Given the description of an element on the screen output the (x, y) to click on. 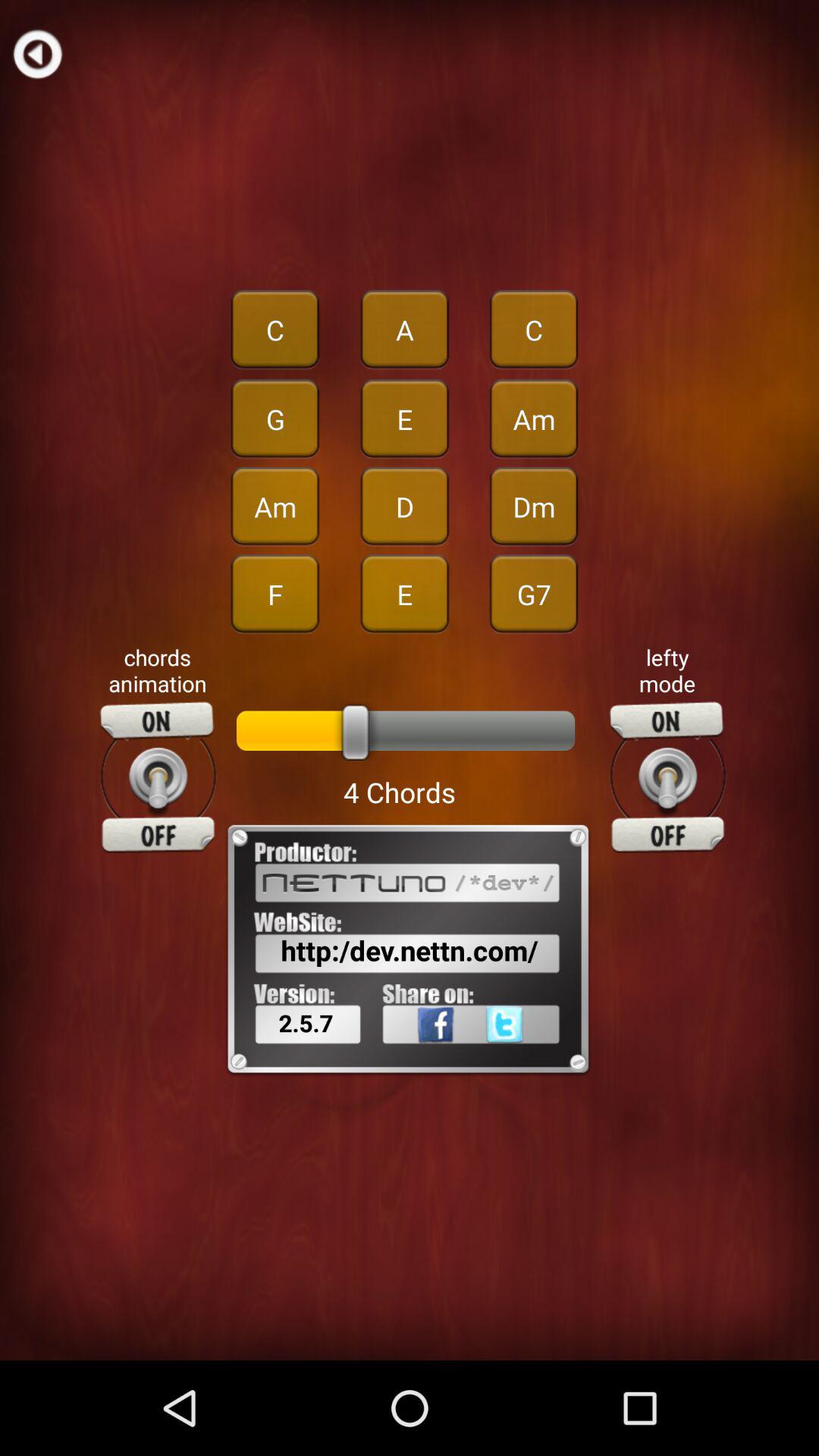
open app next to 2.5.7 (415, 1057)
